Given the description of an element on the screen output the (x, y) to click on. 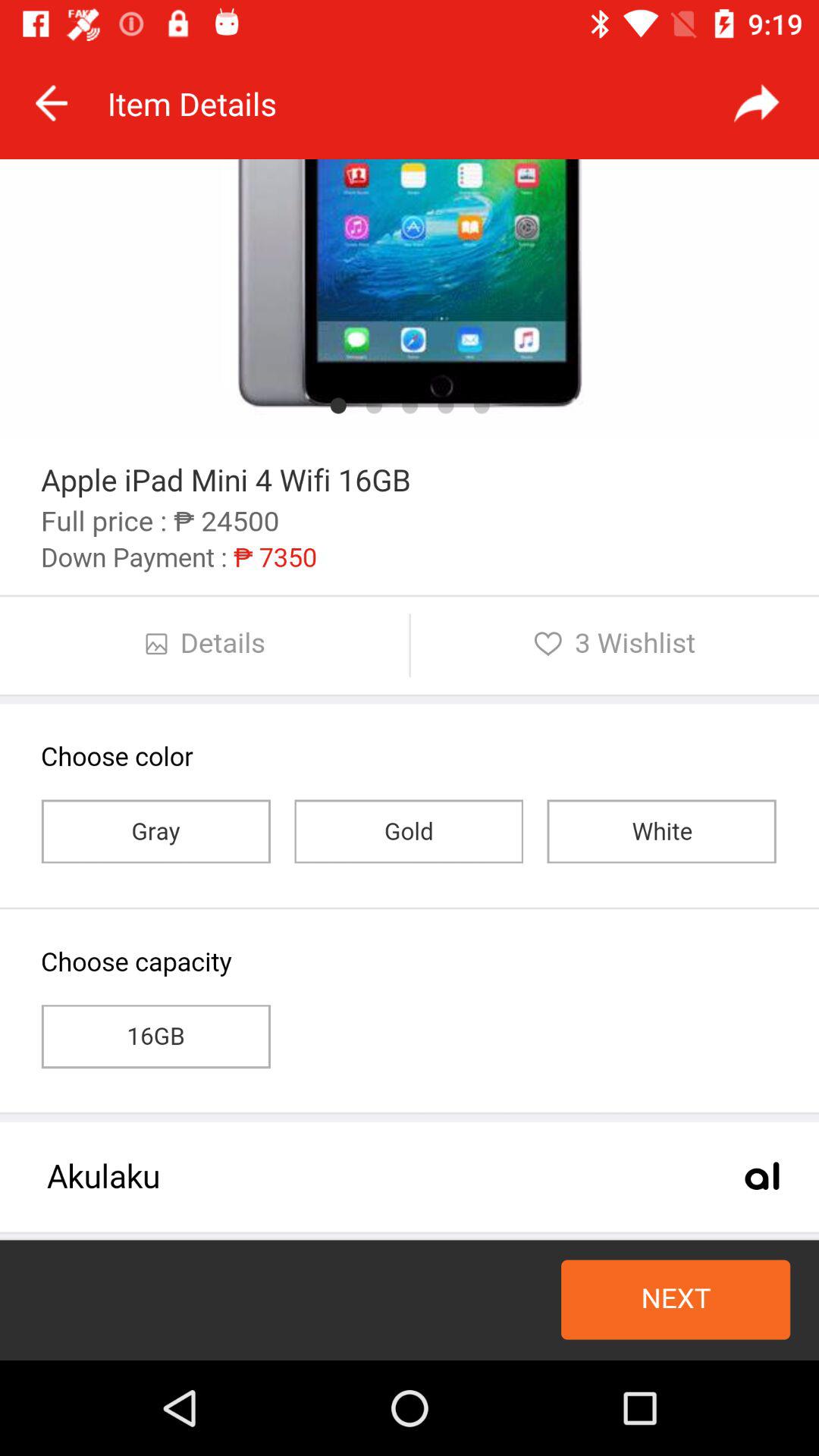
description (409, 759)
